Given the description of an element on the screen output the (x, y) to click on. 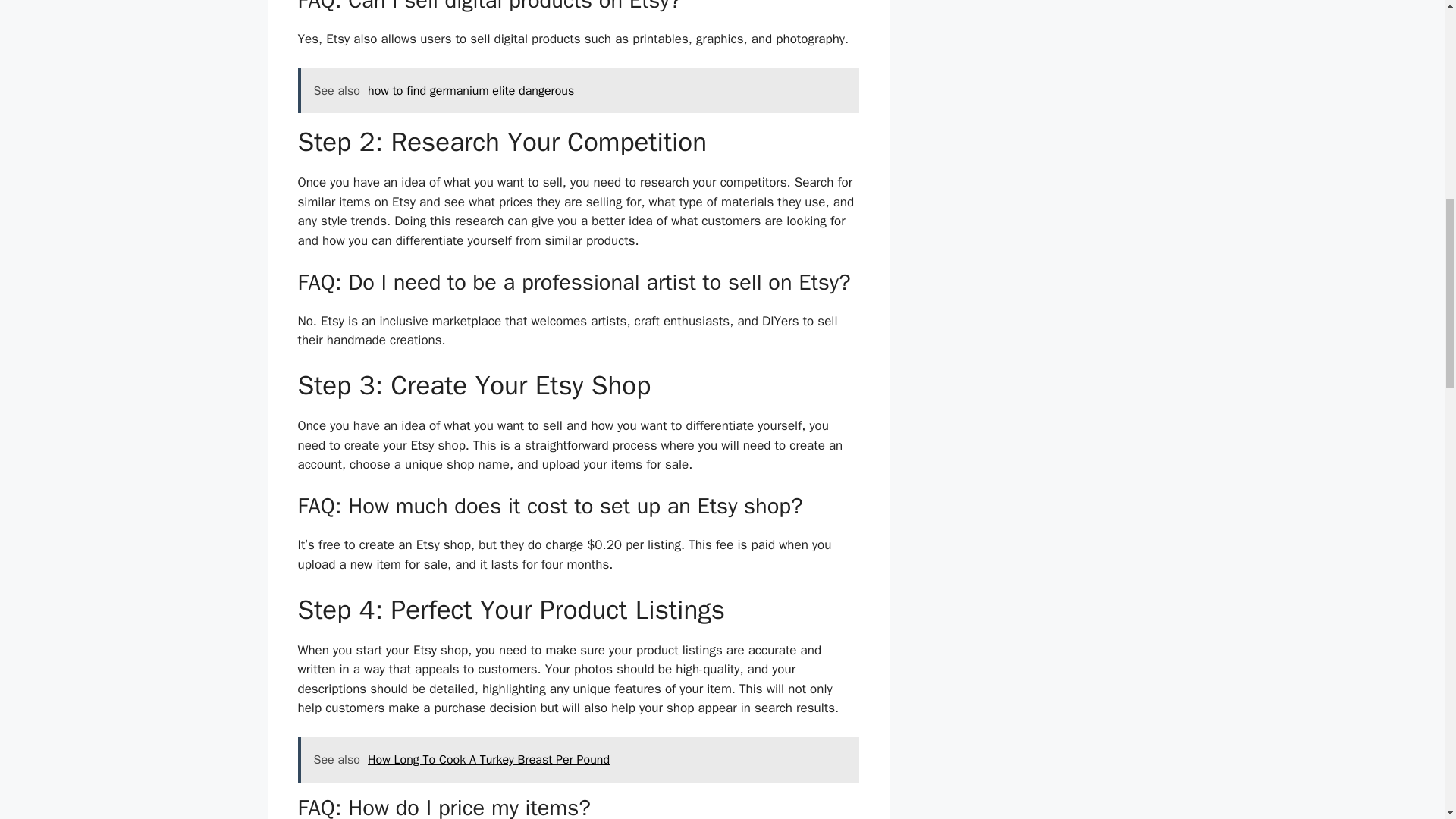
See also  How Long To Cook A Turkey Breast Per Pound (578, 759)
See also  how to find germanium elite dangerous (578, 90)
